Given the description of an element on the screen output the (x, y) to click on. 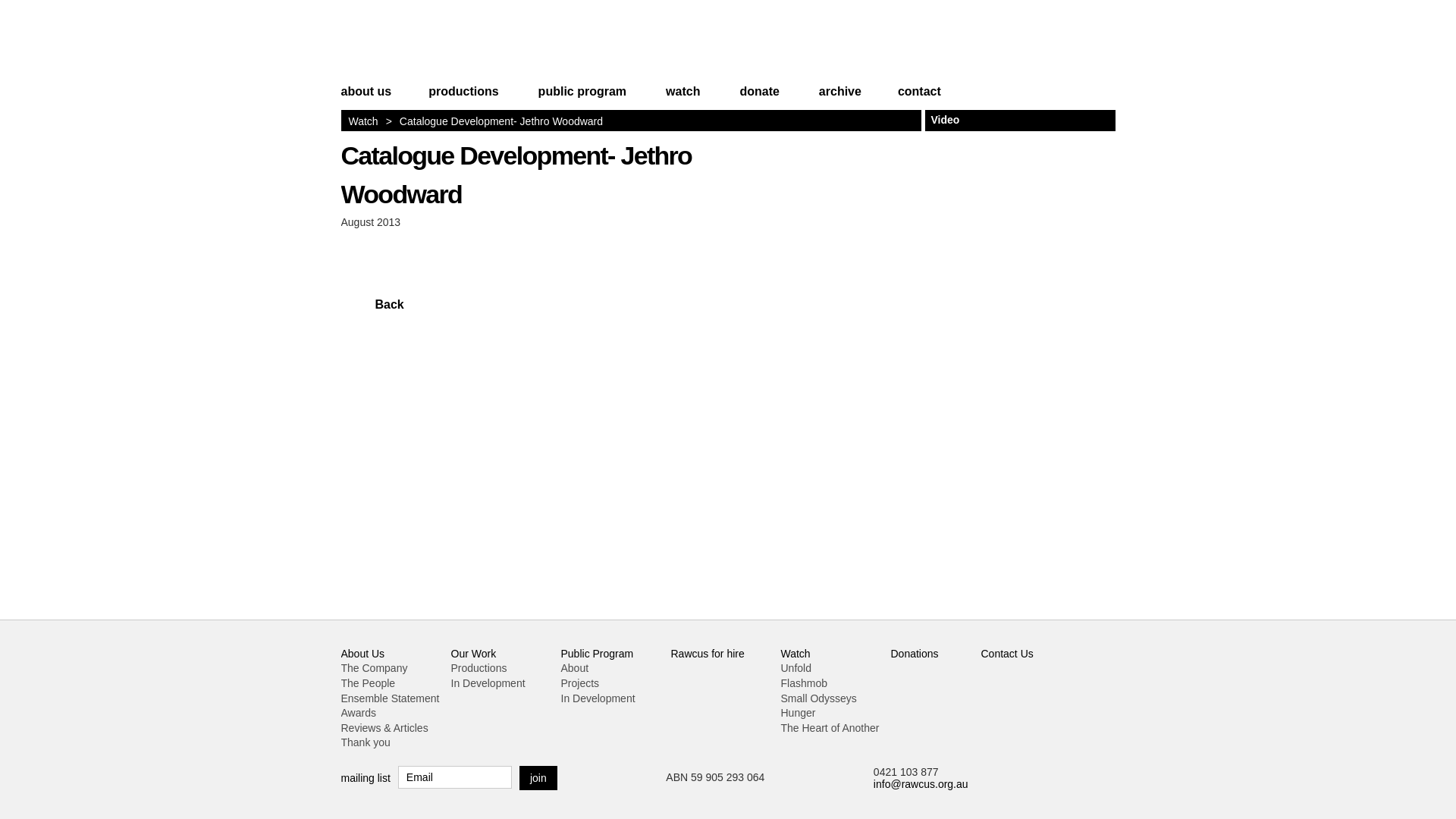
The Company Element type: text (374, 668)
productions Element type: text (462, 97)
About Element type: text (575, 668)
Rawcus Element type: hover (435, 43)
contact Element type: text (911, 97)
In Development Element type: text (598, 698)
public program Element type: text (582, 97)
Rawcus for hire Element type: text (706, 653)
Jethro Woodward - cool bloke, handsome, sonically gifted Element type: hover (924, 241)
Small Odysseys Element type: text (818, 698)
Hunger Element type: text (798, 712)
Productions Element type: text (478, 668)
The Heart of Another Element type: text (830, 727)
info@rawcus.org.au Element type: text (920, 784)
Reviews & Articles Element type: text (384, 727)
Our Work Element type: text (472, 653)
Catalogue Development- Jethro Woodward Element type: text (516, 174)
Thank you Element type: text (365, 742)
Watch Element type: text (795, 653)
Back Element type: text (372, 304)
Unfold Element type: text (796, 668)
About Us Element type: text (363, 653)
Awards Element type: text (358, 712)
In Development Element type: text (487, 683)
Contact Us Element type: text (1007, 653)
archive Element type: text (840, 97)
watch Element type: text (682, 97)
Donations Element type: text (914, 653)
about us Element type: text (375, 97)
donate Element type: text (758, 97)
The People Element type: text (368, 683)
Flashmob Element type: text (804, 683)
Public Program Element type: text (597, 653)
Watch Element type: text (363, 121)
Projects Element type: text (580, 683)
join Element type: text (538, 777)
Ensemble Statement Element type: text (390, 698)
